Given the description of an element on the screen output the (x, y) to click on. 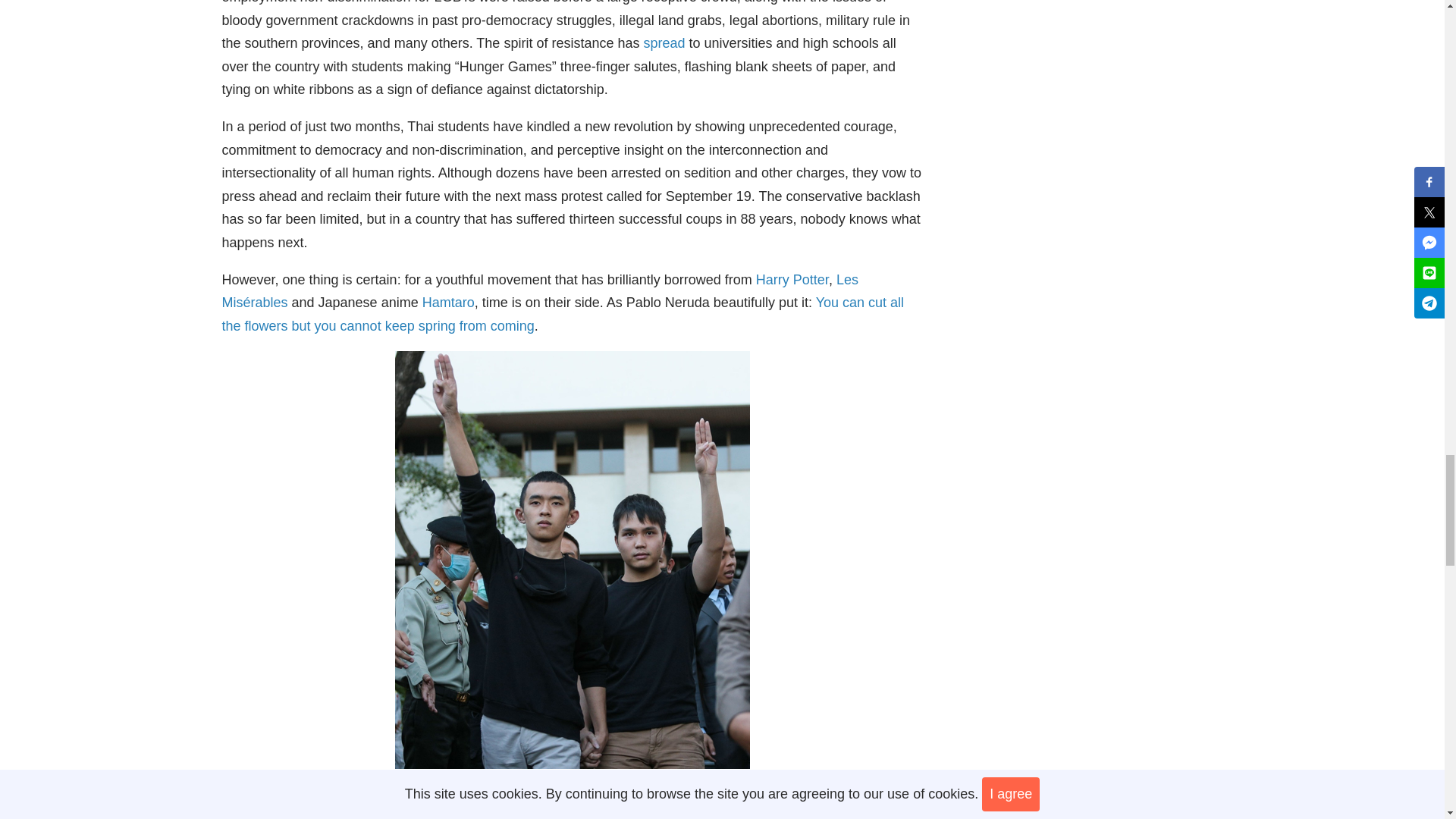
Harry Potter (791, 279)
Hamtaro (448, 302)
spread (663, 43)
